Given the description of an element on the screen output the (x, y) to click on. 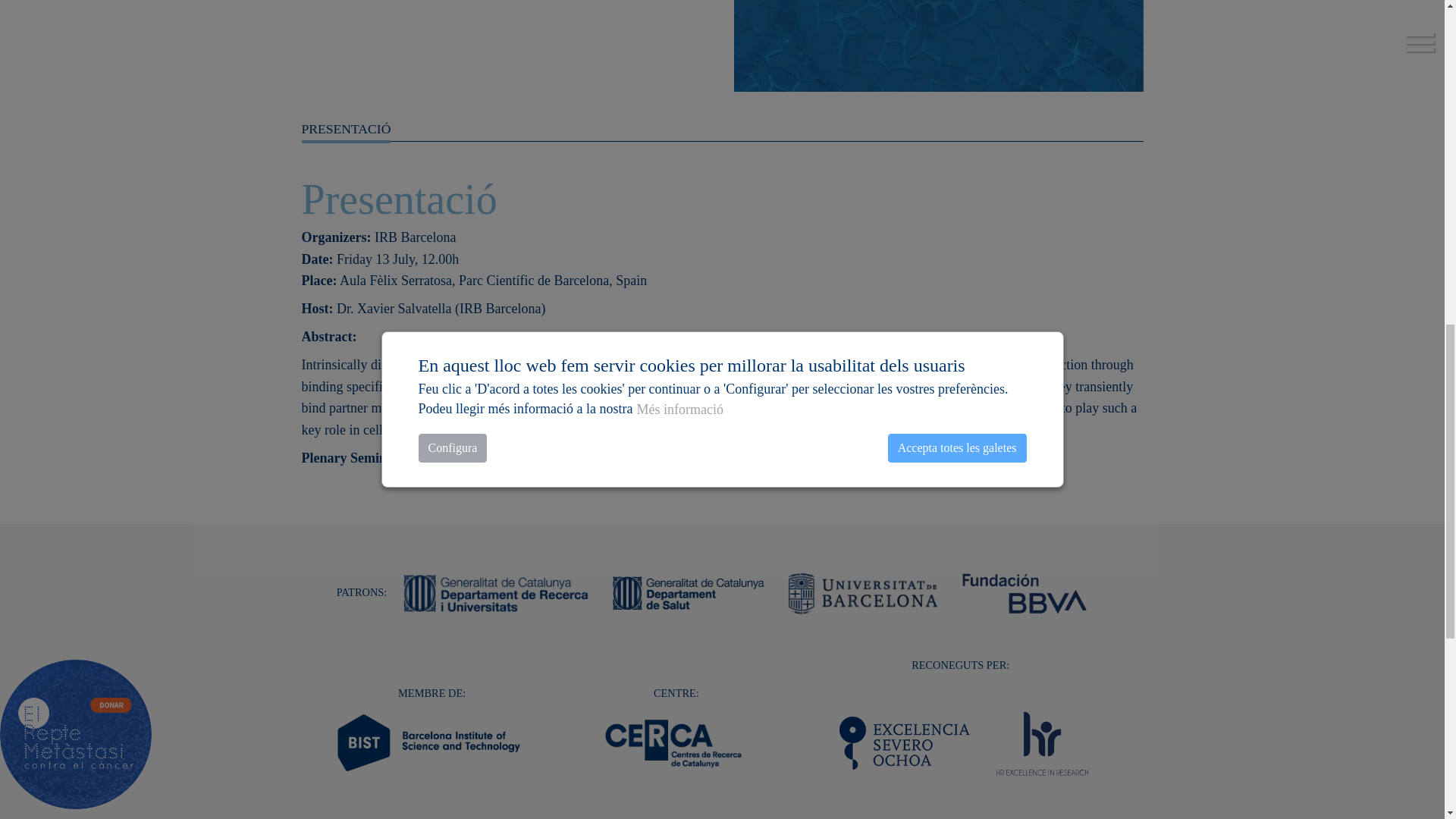
SVG (1042, 742)
